Given the description of an element on the screen output the (x, y) to click on. 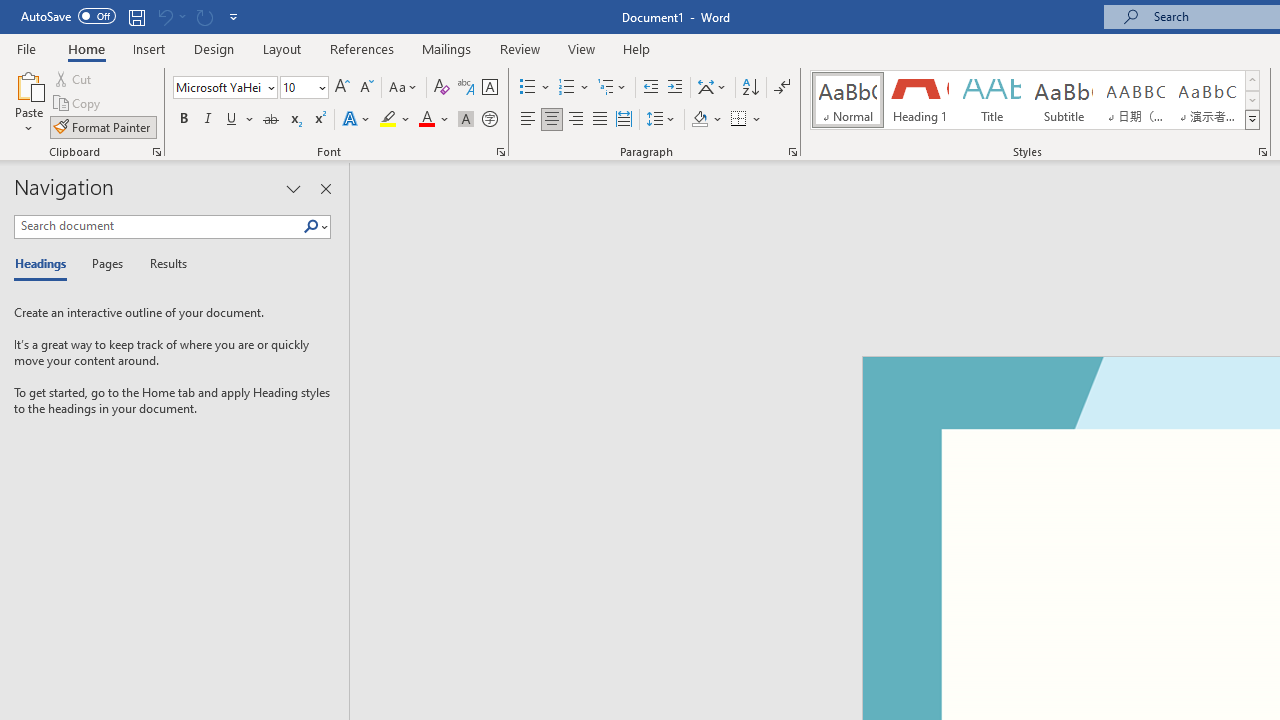
Line and Paragraph Spacing (661, 119)
Phonetic Guide... (465, 87)
Class: NetUIImage (1252, 119)
Open (320, 87)
Row Down (1252, 100)
Strikethrough (270, 119)
AutoSave (68, 16)
Styles... (1262, 151)
Help (637, 48)
Review (520, 48)
Format Painter (103, 126)
Layout (282, 48)
Bullets (527, 87)
Change Case (404, 87)
More Options (757, 119)
